Given the description of an element on the screen output the (x, y) to click on. 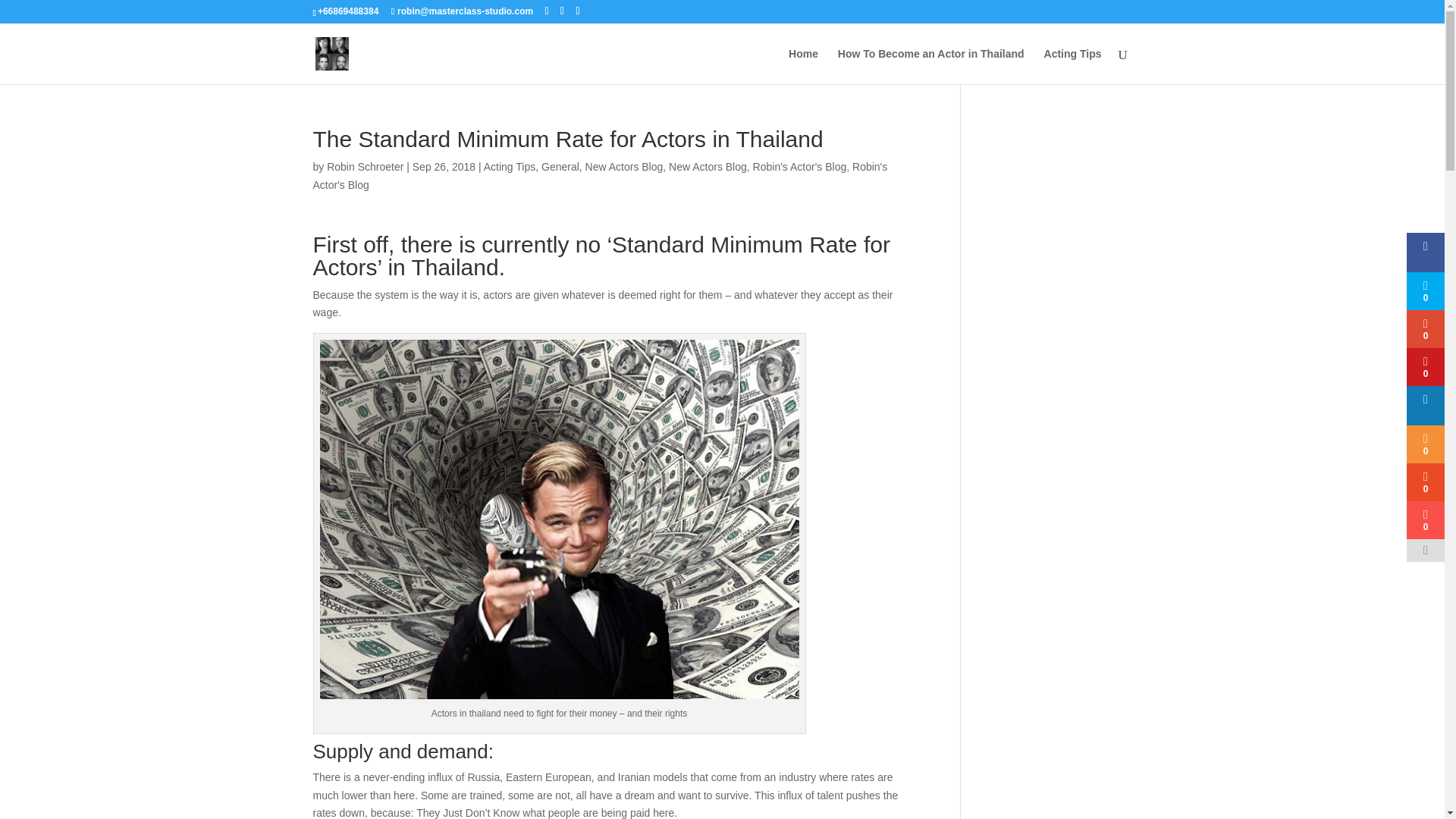
Acting Tips (1072, 66)
General (560, 166)
Acting Tips (509, 166)
Robin Schroeter (364, 166)
New Actors Blog (707, 166)
Robin's Actor's Blog (799, 166)
Posts by Robin Schroeter (364, 166)
How To Become an Actor in Thailand (931, 66)
New Actors Blog (624, 166)
Robin's Actor's Blog (599, 175)
